Given the description of an element on the screen output the (x, y) to click on. 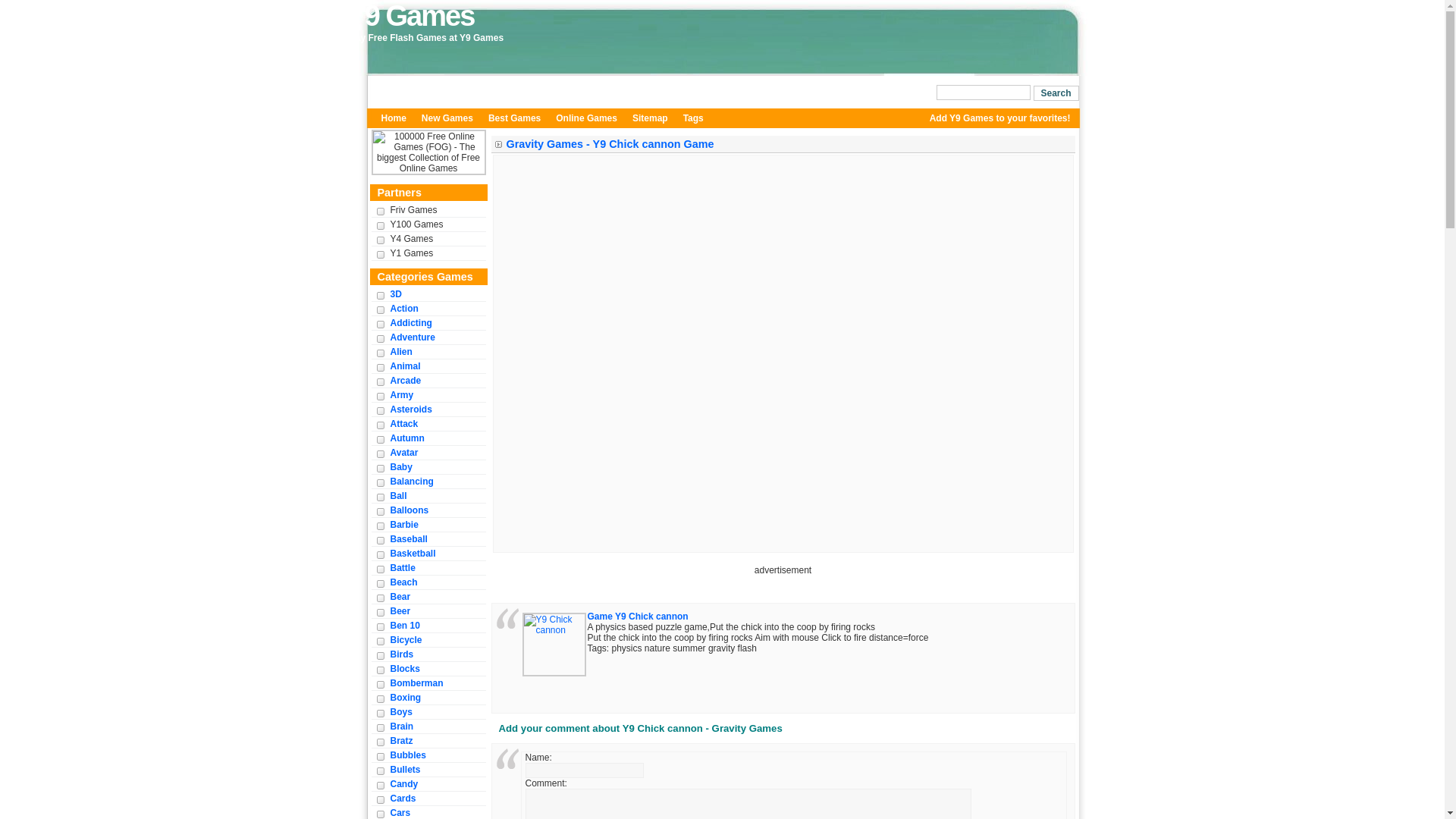
Asteroids (410, 409)
Animal Games (405, 366)
Search (1055, 92)
Best Games (514, 117)
Arcade (405, 380)
Army (401, 395)
Bratz (401, 740)
Arcade Games (405, 380)
Addicting (410, 323)
Online Games (586, 117)
Baby (401, 467)
Bicycle (406, 640)
Boxing (405, 697)
Boys (401, 712)
Adventure Games (411, 336)
